Given the description of an element on the screen output the (x, y) to click on. 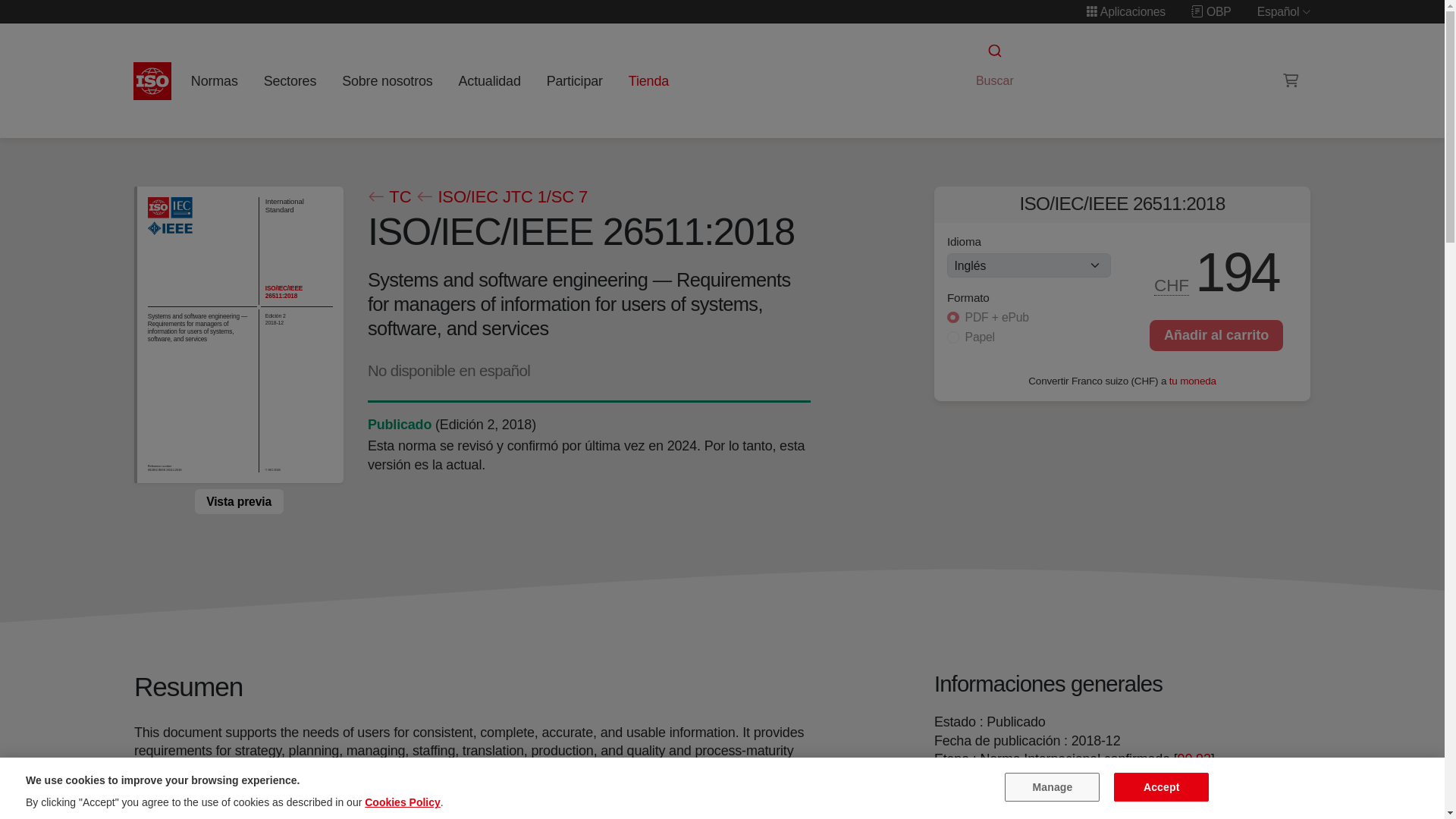
Actualidad (489, 80)
Submit (993, 51)
 OBP (1211, 11)
Publicado (398, 424)
TC (388, 197)
90.93 (1194, 758)
90.93 (1194, 758)
Participar (574, 80)
Portal de aplicaciones de ISO (1126, 11)
Sectores (290, 80)
Normas (214, 80)
Francos suizos (1171, 285)
Carro de la compra (1290, 80)
